Given the description of an element on the screen output the (x, y) to click on. 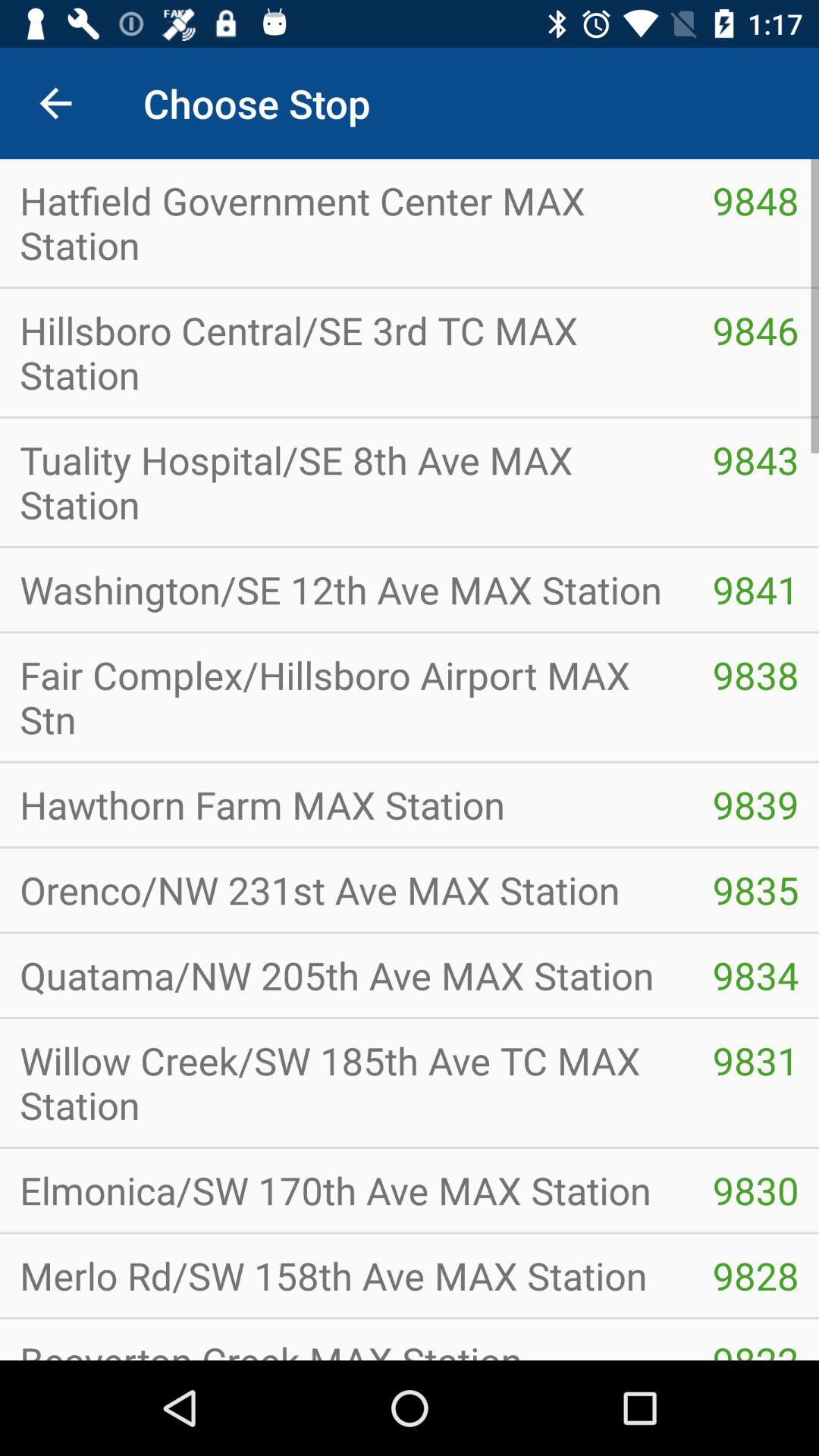
click the item to the left of 9841 (346, 696)
